Given the description of an element on the screen output the (x, y) to click on. 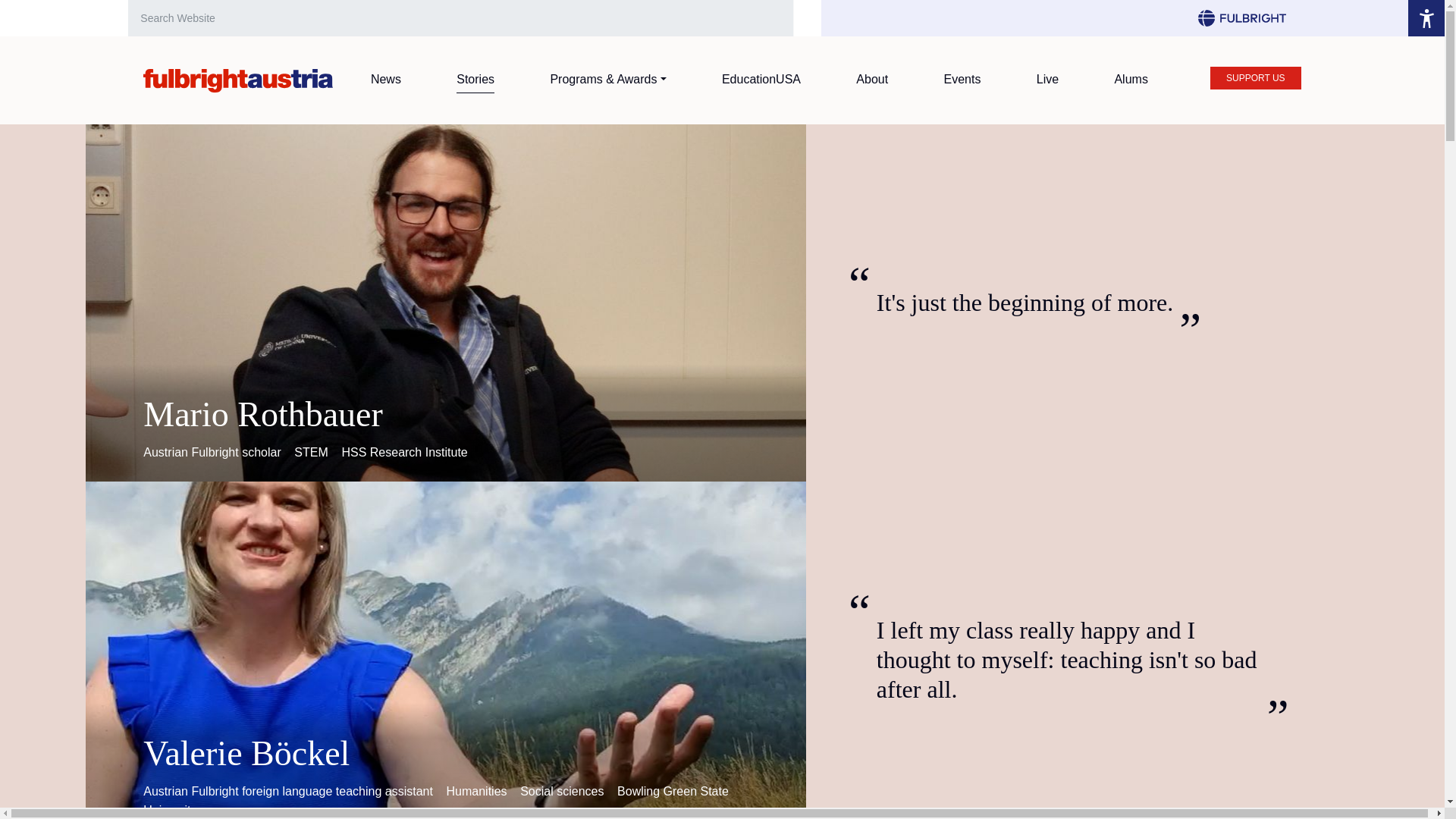
News (386, 79)
About (872, 79)
Alums (1130, 79)
Events (961, 79)
Stories (476, 79)
EducationUSA (761, 79)
SUPPORT US (1255, 77)
